Given the description of an element on the screen output the (x, y) to click on. 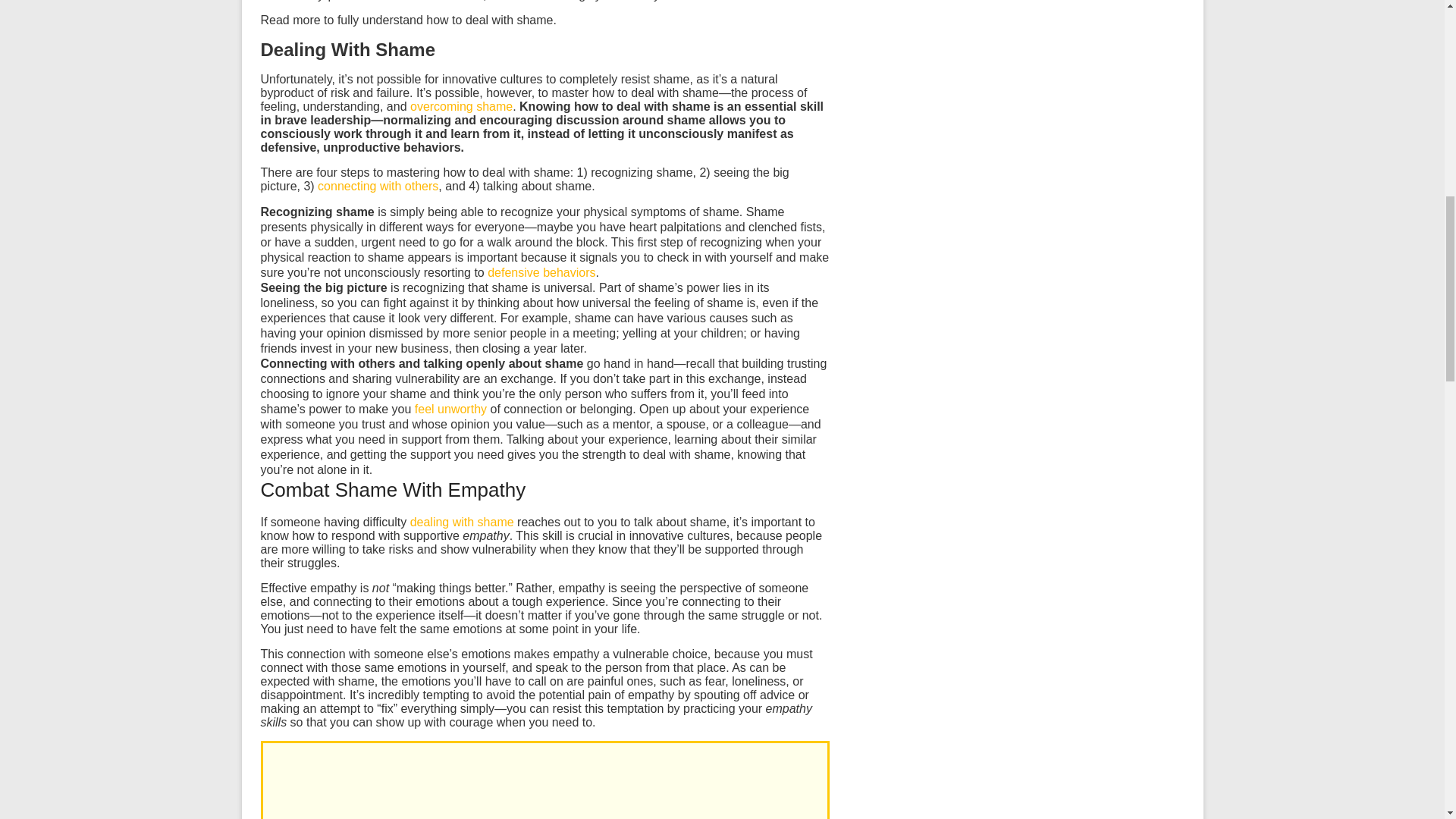
connecting with others (377, 185)
defensive behaviors (541, 272)
overcoming shame (461, 106)
feel unworthy (450, 408)
dealing with shame (461, 521)
